Given the description of an element on the screen output the (x, y) to click on. 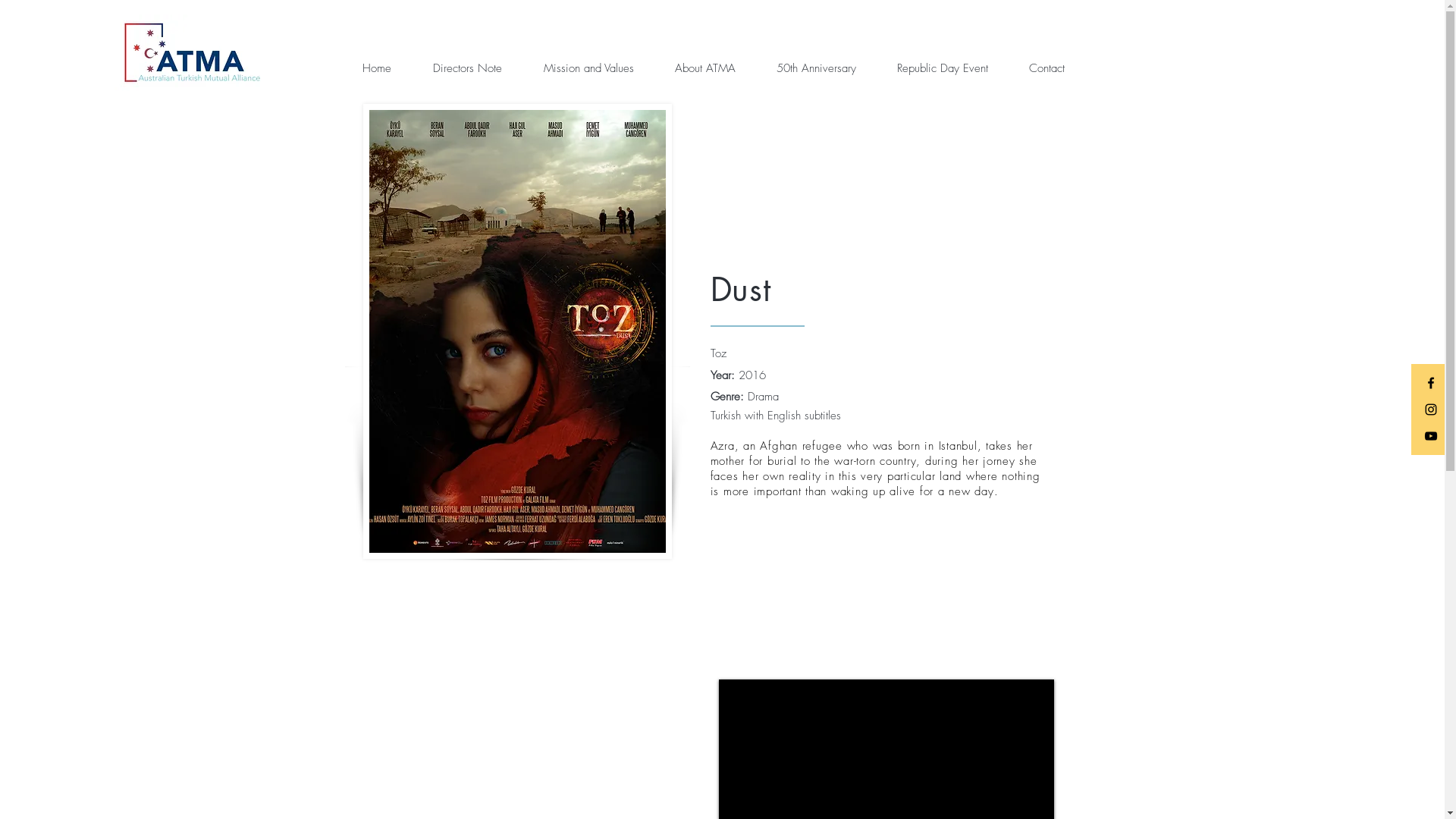
Republic Day Event Element type: text (951, 68)
Mission and Values Element type: text (597, 68)
Contact Element type: text (1055, 68)
Year: 2016 Element type: text (737, 374)
50th Anniversary Element type: text (824, 68)
Home Element type: text (385, 68)
About ATMA Element type: text (713, 68)
ATMA logo Element type: hover (190, 52)
Directors Note Element type: text (476, 68)
